Given the description of an element on the screen output the (x, y) to click on. 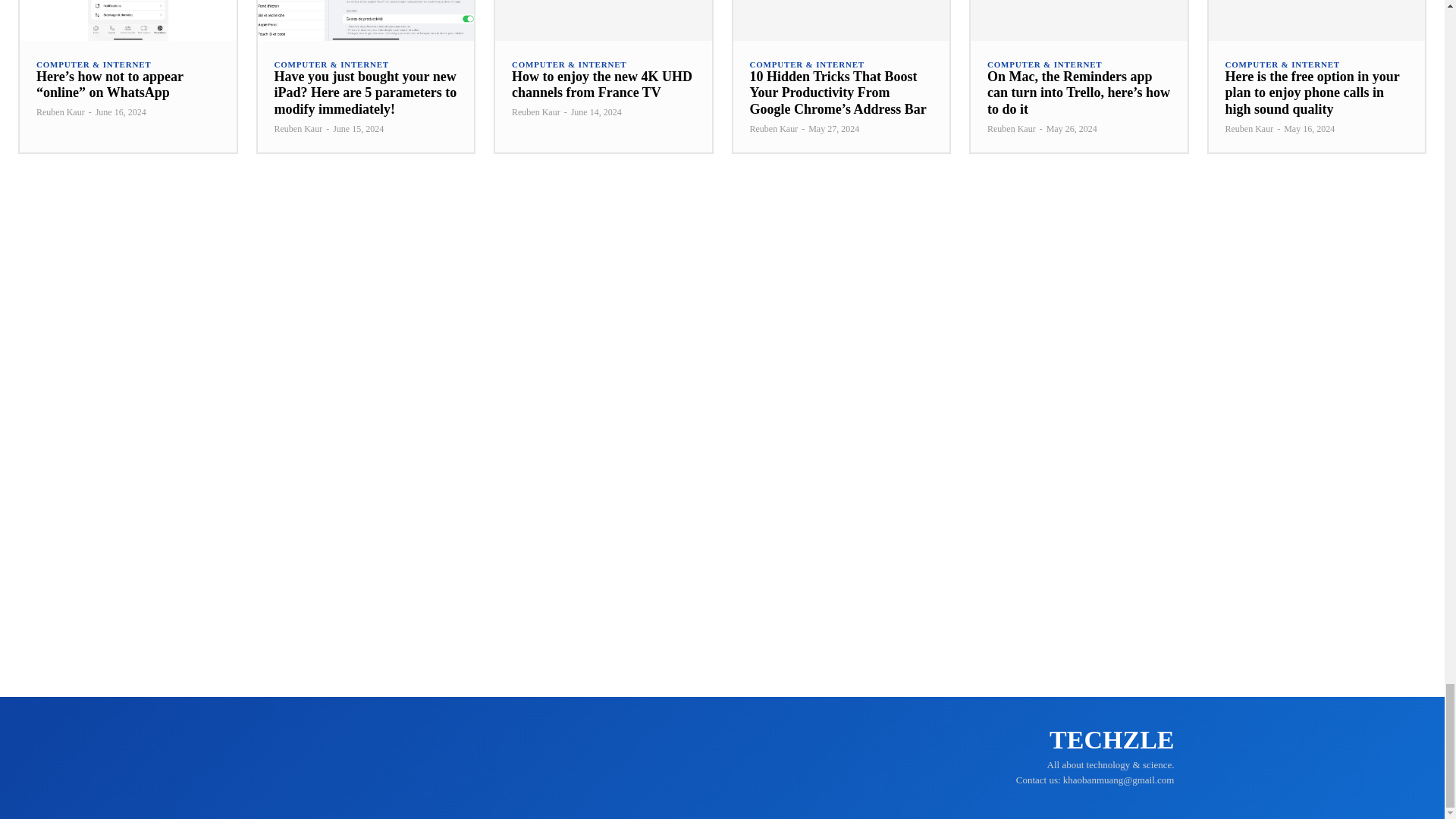
How to enjoy the new 4K UHD channels from France TV (603, 20)
How to enjoy the new 4K UHD channels from France TV (602, 84)
